Given the description of an element on the screen output the (x, y) to click on. 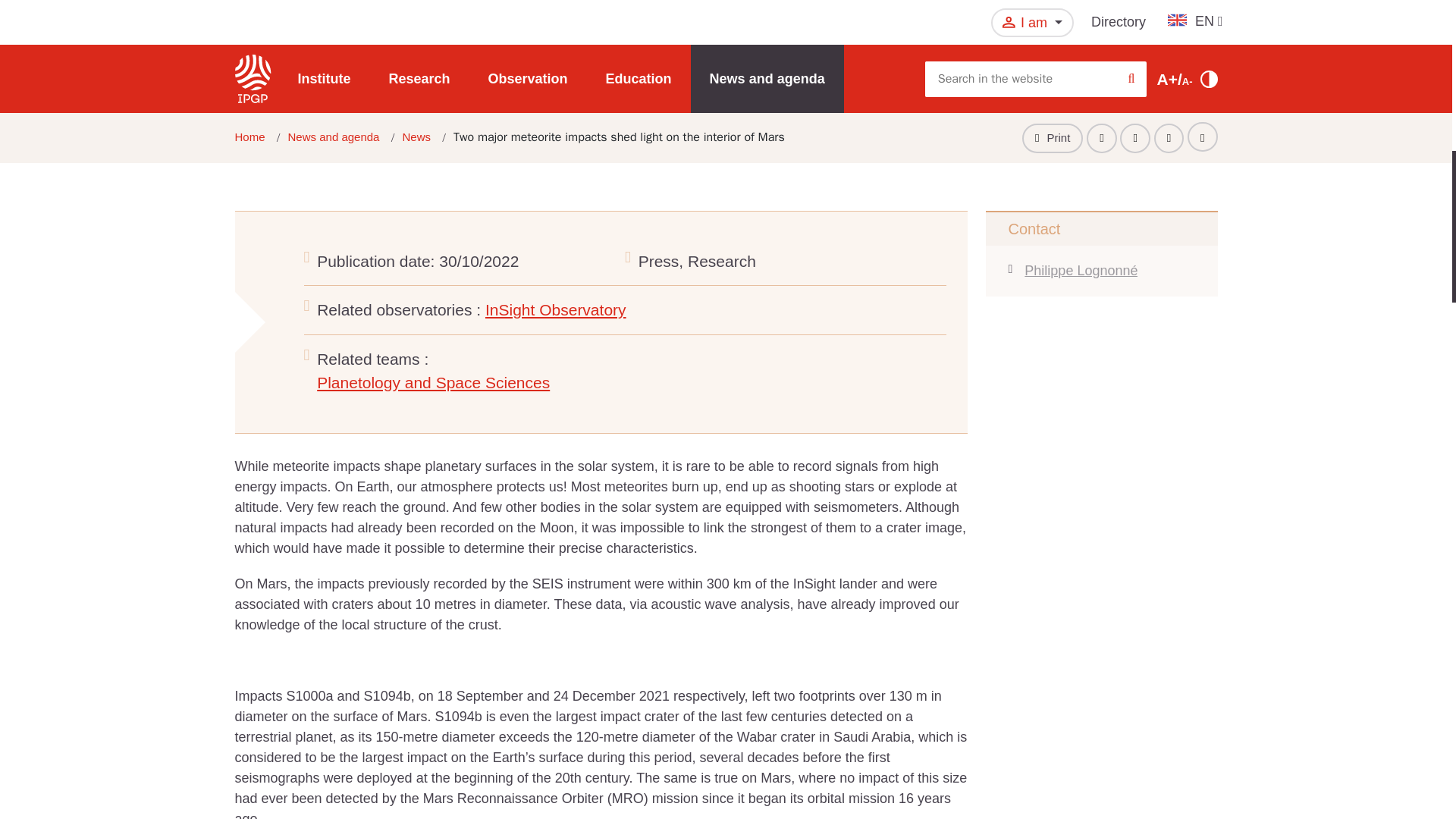
Planetology and Space Sciences (433, 382)
InSight Observatory (555, 309)
